Given the description of an element on the screen output the (x, y) to click on. 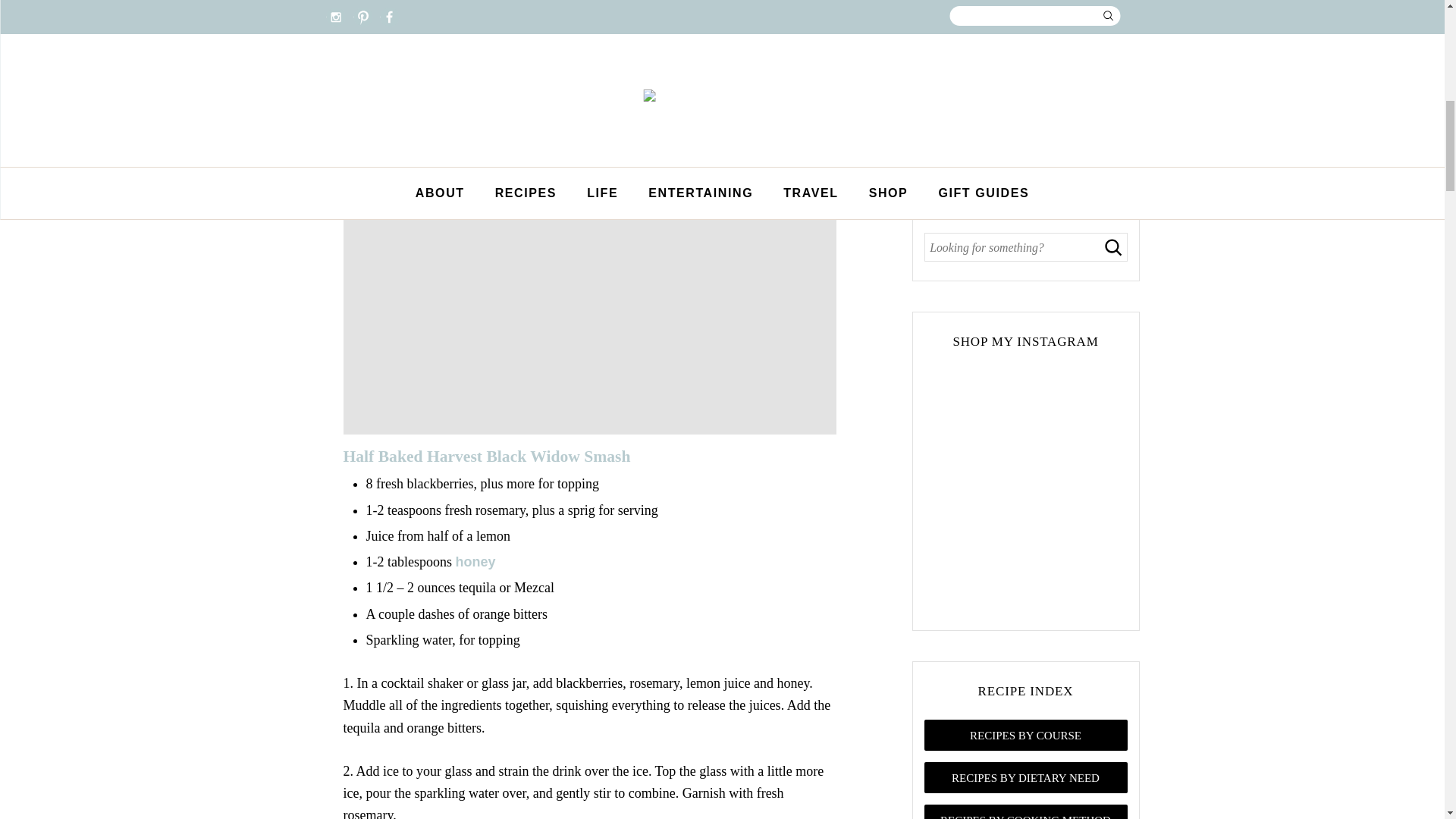
honey (474, 561)
Half Baked Harvest Black Widow Smash (486, 456)
